Given the description of an element on the screen output the (x, y) to click on. 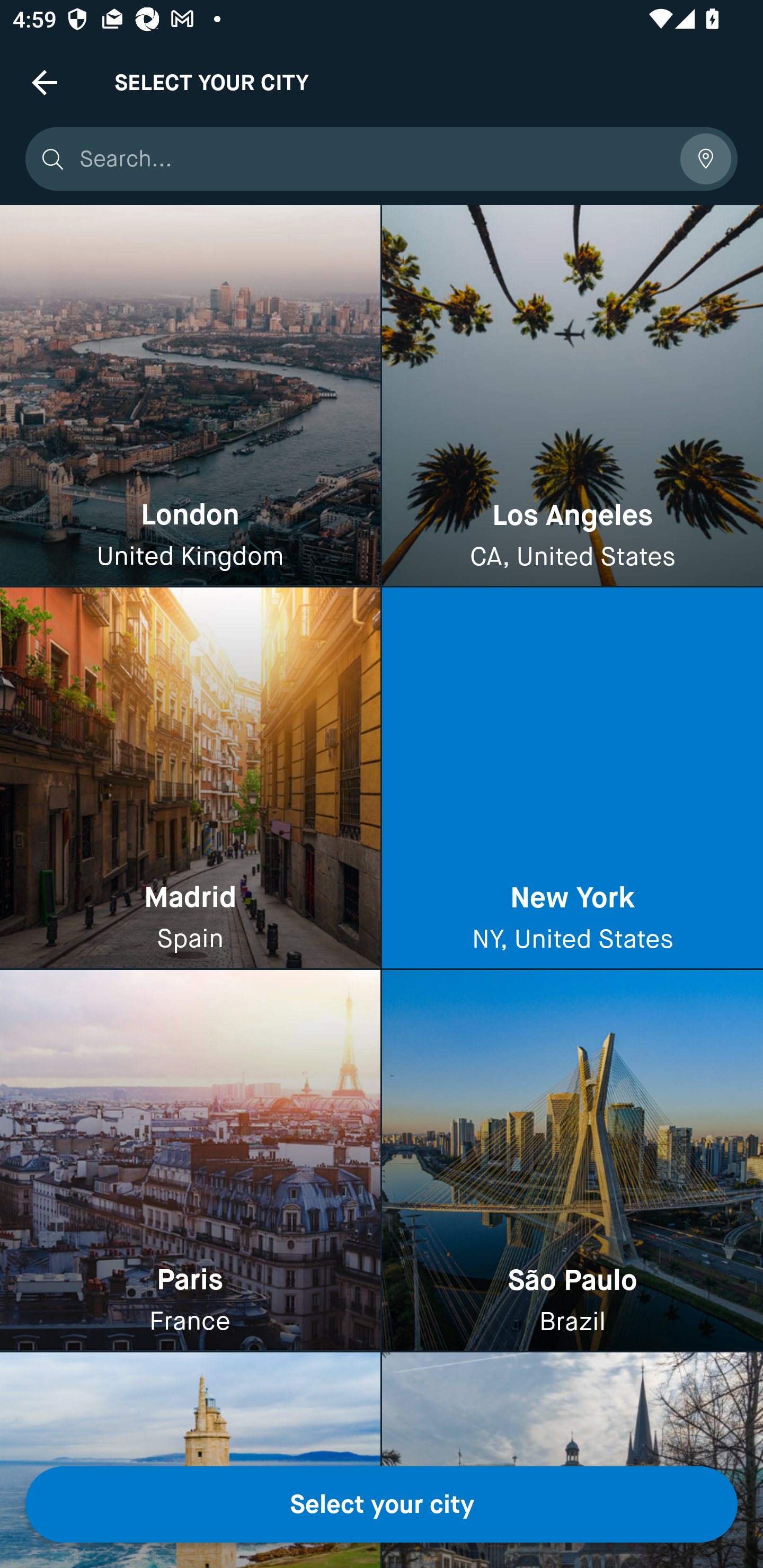
Navigate up (44, 82)
Search... (373, 159)
London United Kingdom (190, 395)
Los Angeles CA, United States (572, 395)
Madrid Spain (190, 778)
New York NY, United States (572, 778)
Paris France (190, 1160)
São Paulo Brazil (572, 1160)
Select your city (381, 1504)
